Given the description of an element on the screen output the (x, y) to click on. 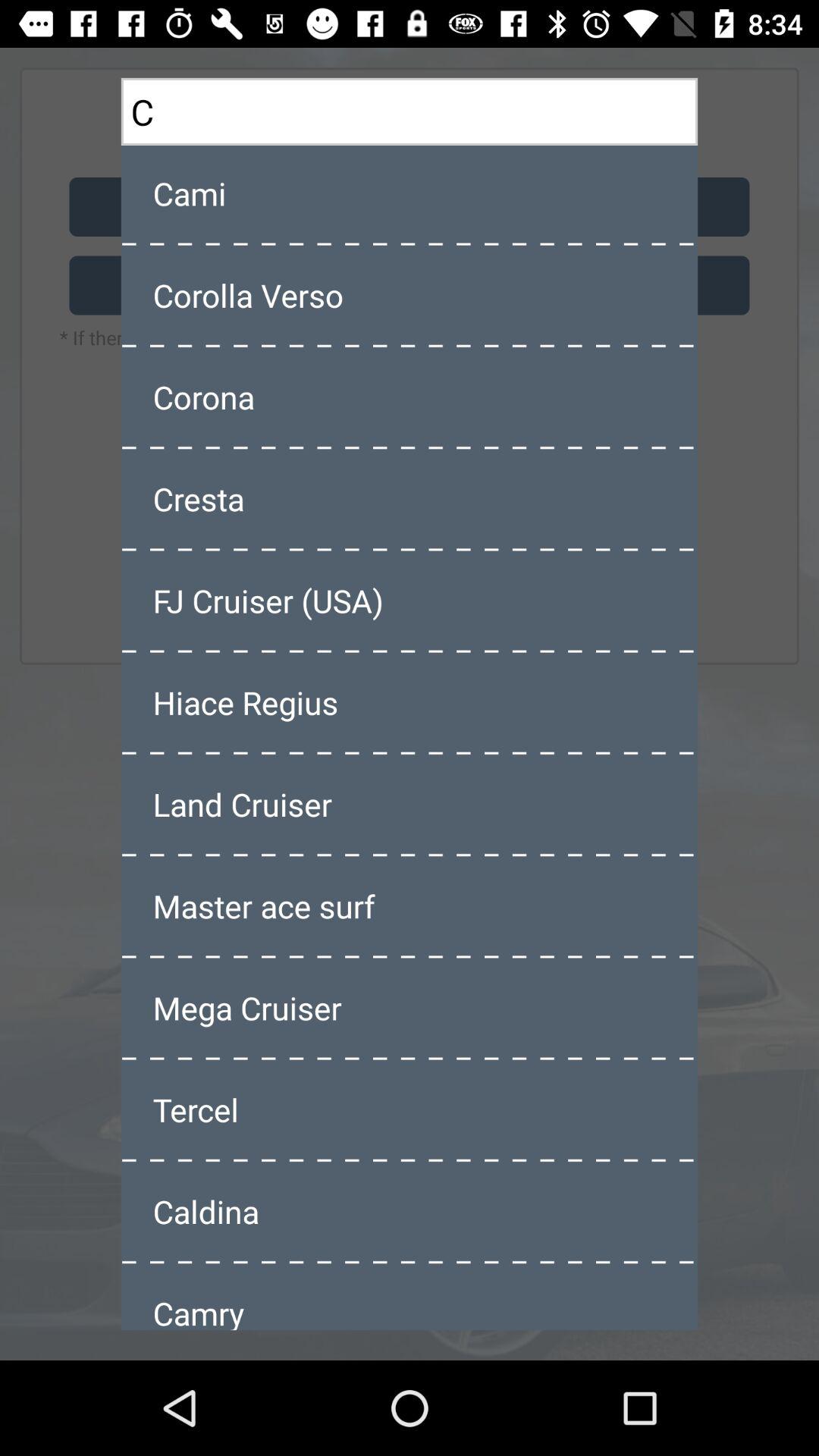
turn off mega cruiser icon (409, 1007)
